Given the description of an element on the screen output the (x, y) to click on. 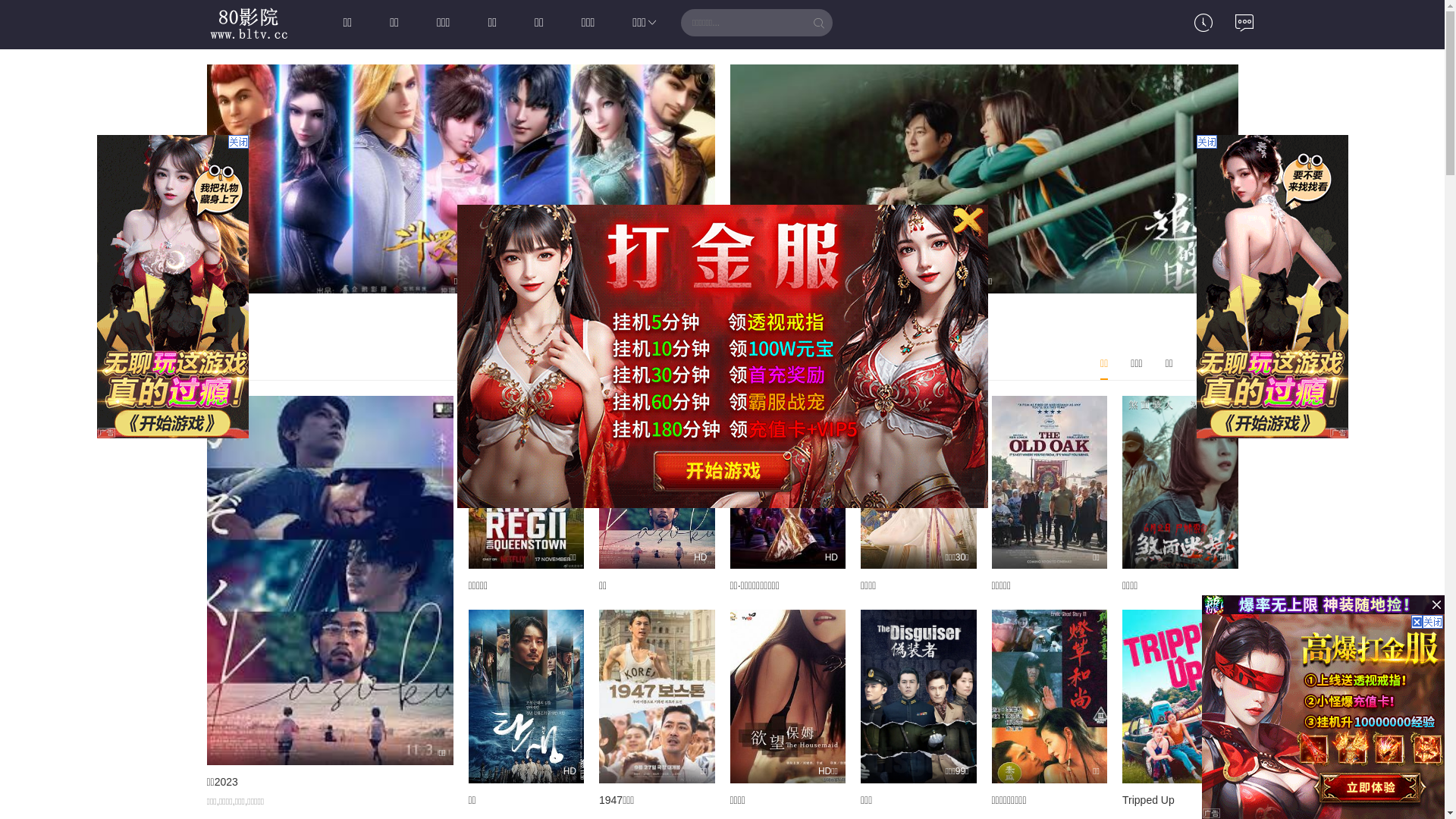
HD Element type: text (787, 482)
HD Element type: text (657, 482)
Tripped Up Element type: text (1148, 799)
HD Element type: text (526, 696)
